Given the description of an element on the screen output the (x, y) to click on. 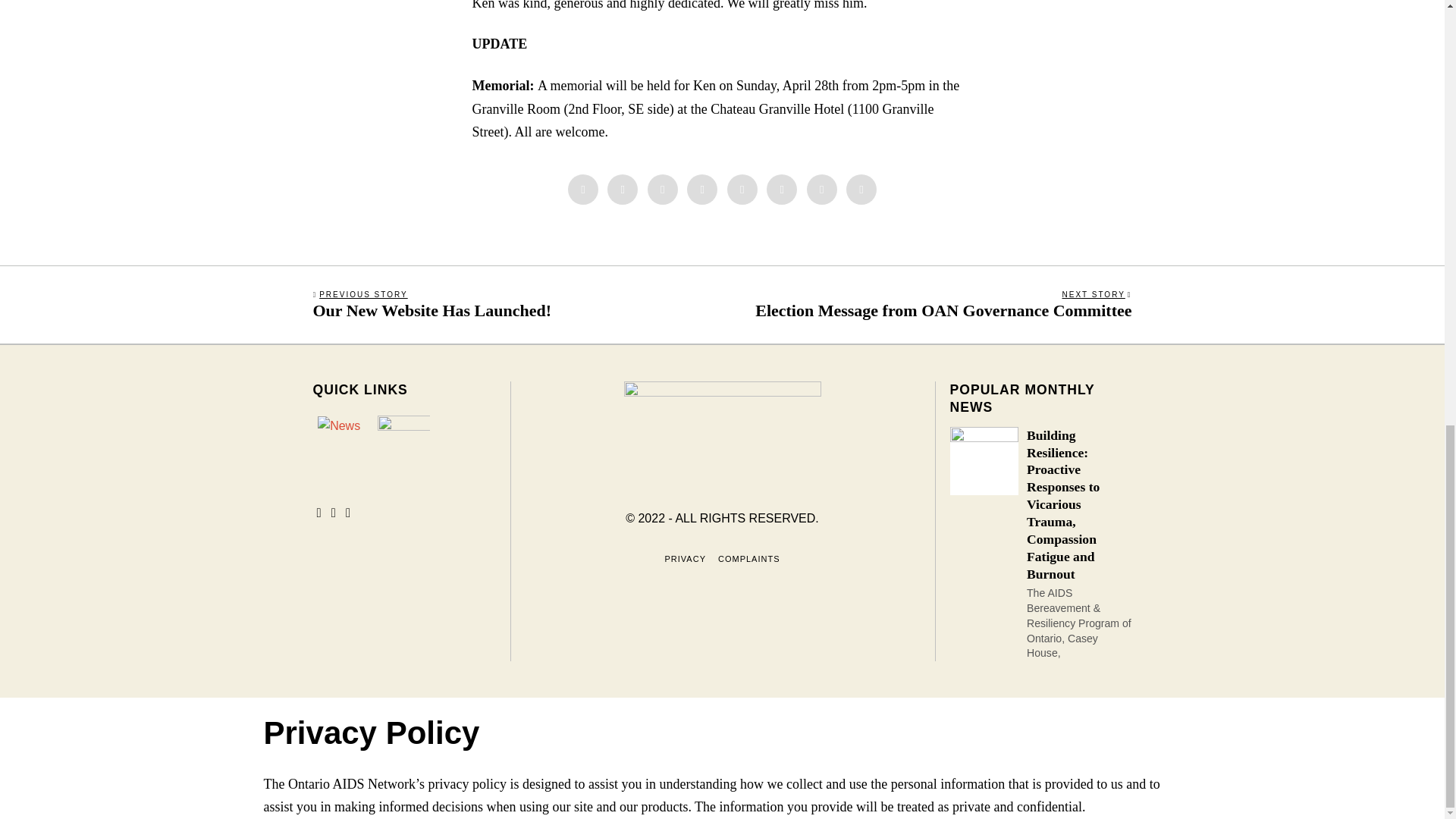
Twitter (662, 189)
Messenger (622, 189)
Reddit (821, 189)
Facebook (582, 189)
Pinterest (702, 189)
Email (860, 189)
Whatsapp (781, 189)
Linkedin (741, 189)
